Given the description of an element on the screen output the (x, y) to click on. 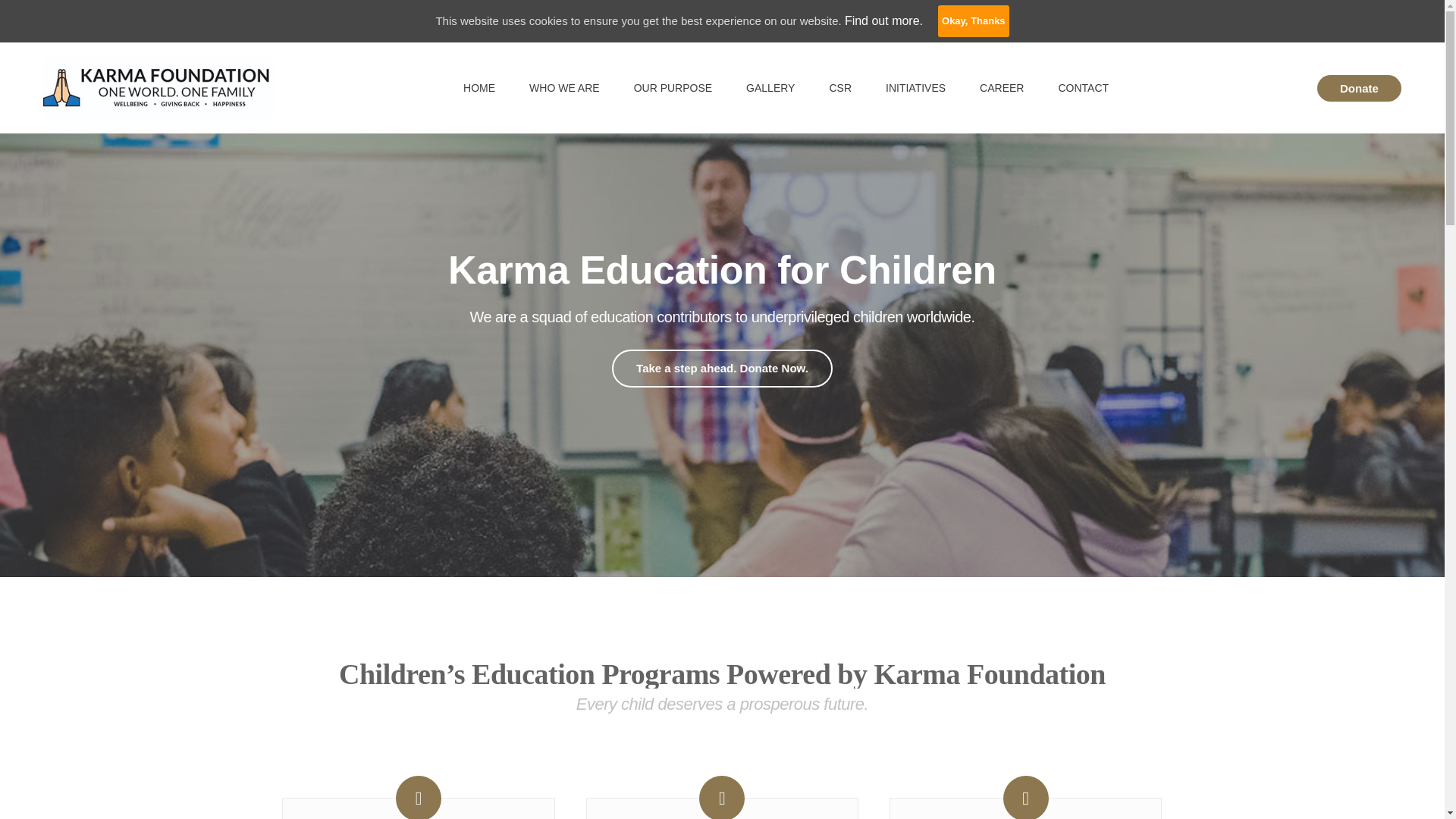
OUR PURPOSE (673, 87)
Initiatives (915, 87)
Take a step ahead. Donate Now. (721, 368)
Donate (1358, 87)
INITIATIVES (915, 87)
Who We Are (564, 87)
Our Purpose (673, 87)
WHO WE ARE (564, 87)
